Given the description of an element on the screen output the (x, y) to click on. 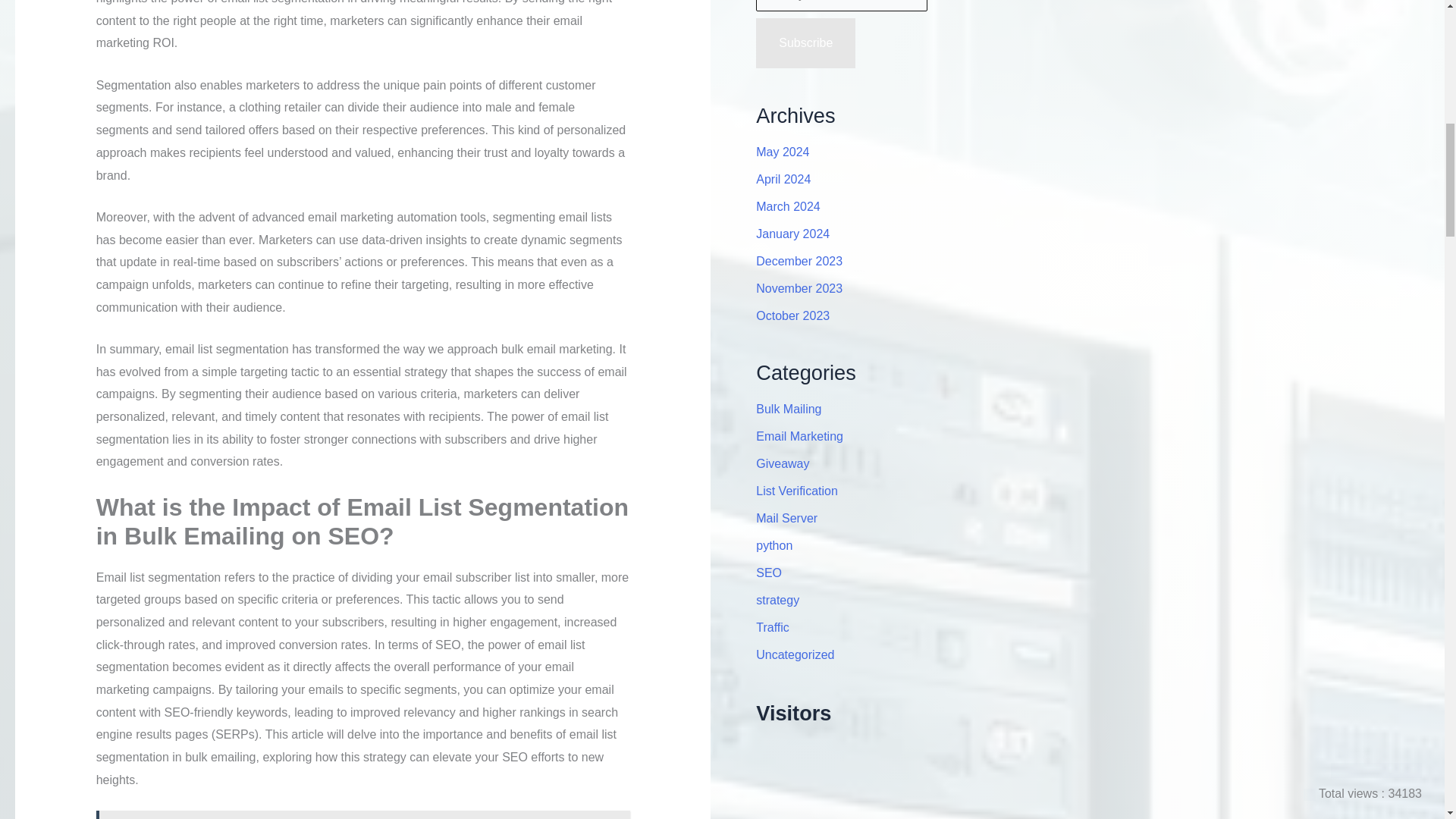
Subscribe (805, 42)
